Given the description of an element on the screen output the (x, y) to click on. 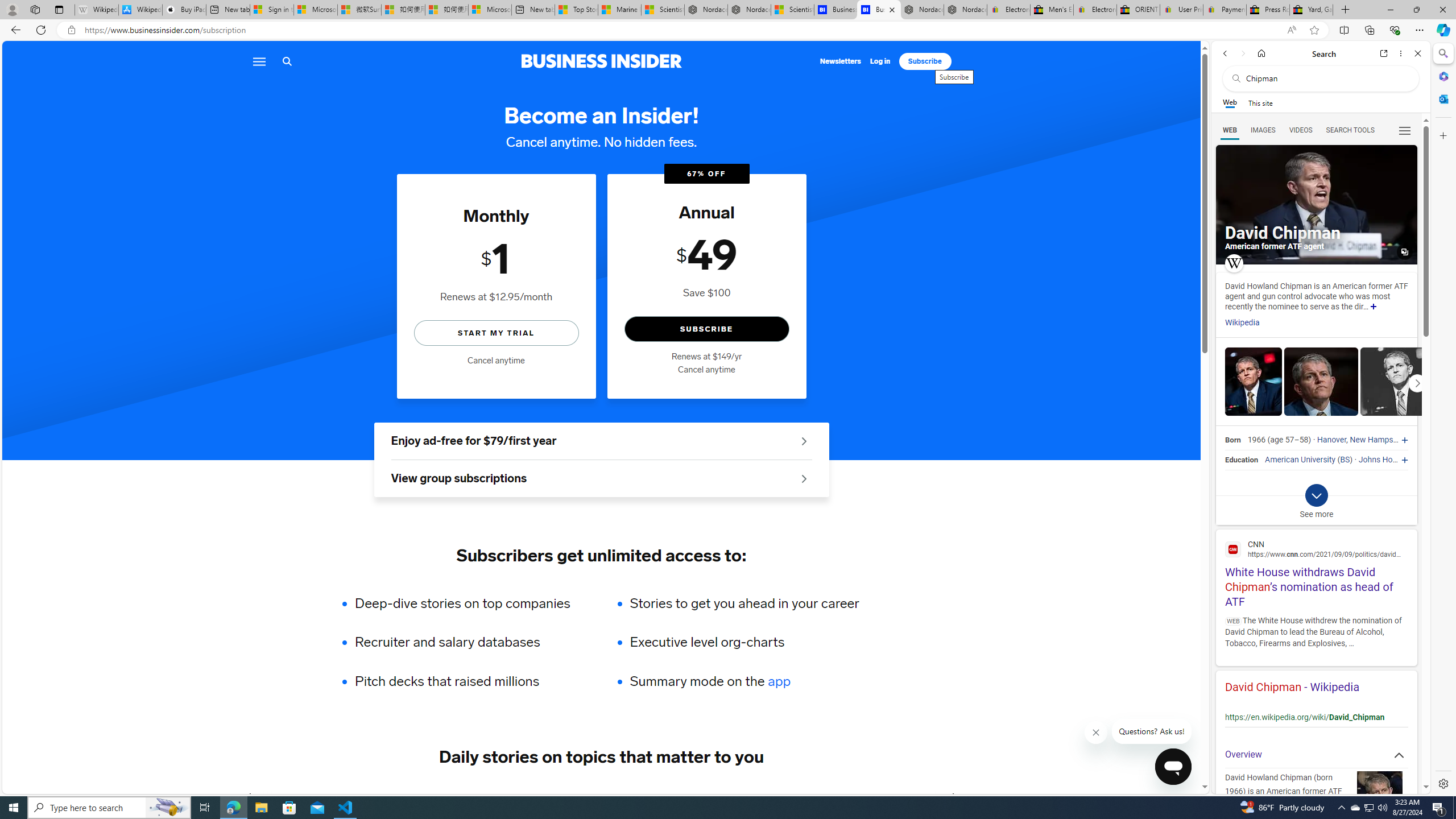
All images (1315, 204)
Search icon (286, 61)
All images (1404, 252)
Log in (880, 61)
RETAIL (422, 796)
Close message from company (1096, 732)
Class: sc-1uf0igr-1 fjHZYk (1096, 732)
American University (1300, 460)
